Given the description of an element on the screen output the (x, y) to click on. 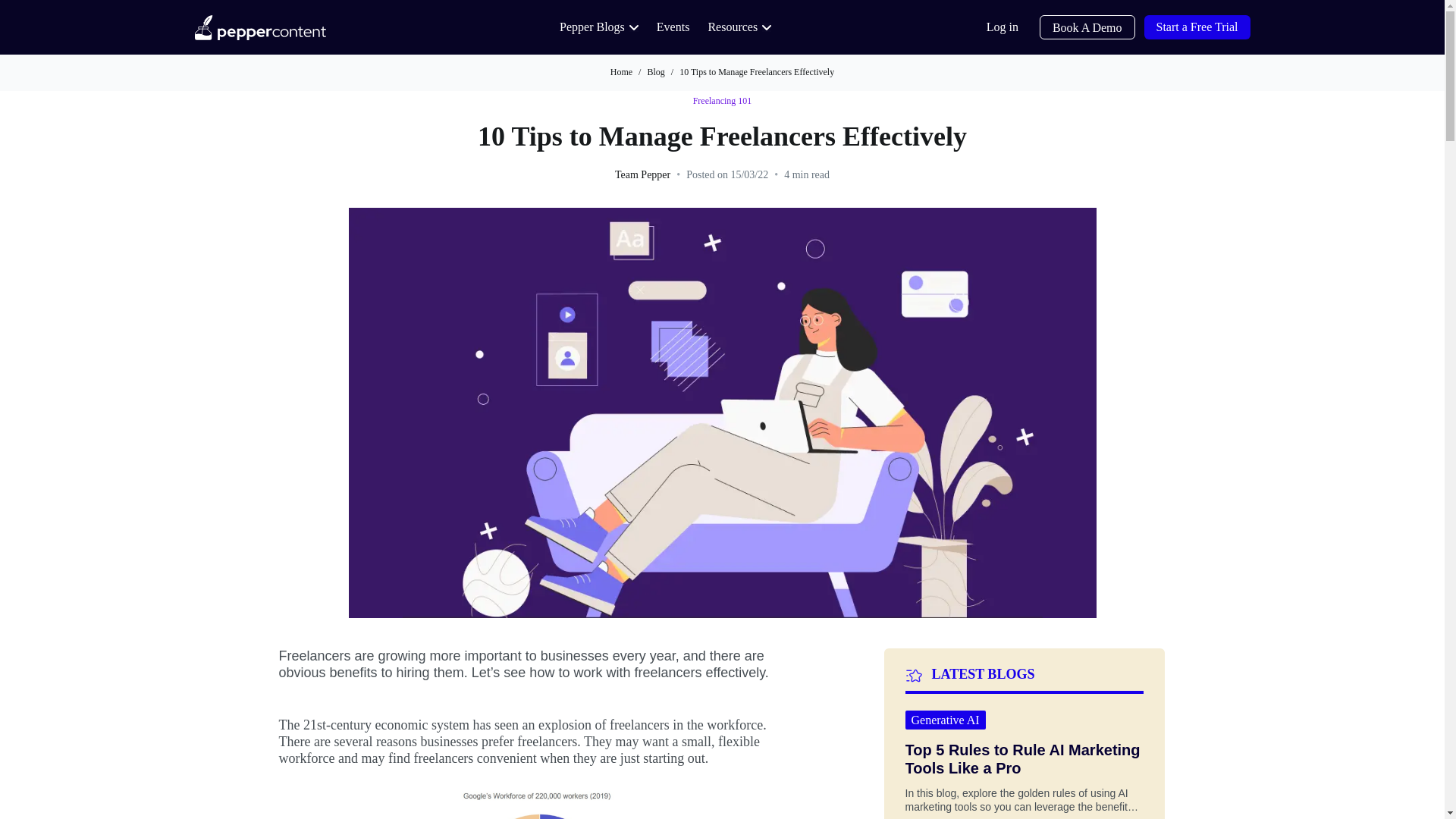
Homepage (259, 27)
Pepper Blogs (599, 27)
Home (620, 71)
Blog (654, 71)
Log in (1002, 27)
Resources (739, 27)
Book A Demo (1087, 27)
Freelancing 101 (722, 101)
Start a Free Trial (1195, 27)
